Given the description of an element on the screen output the (x, y) to click on. 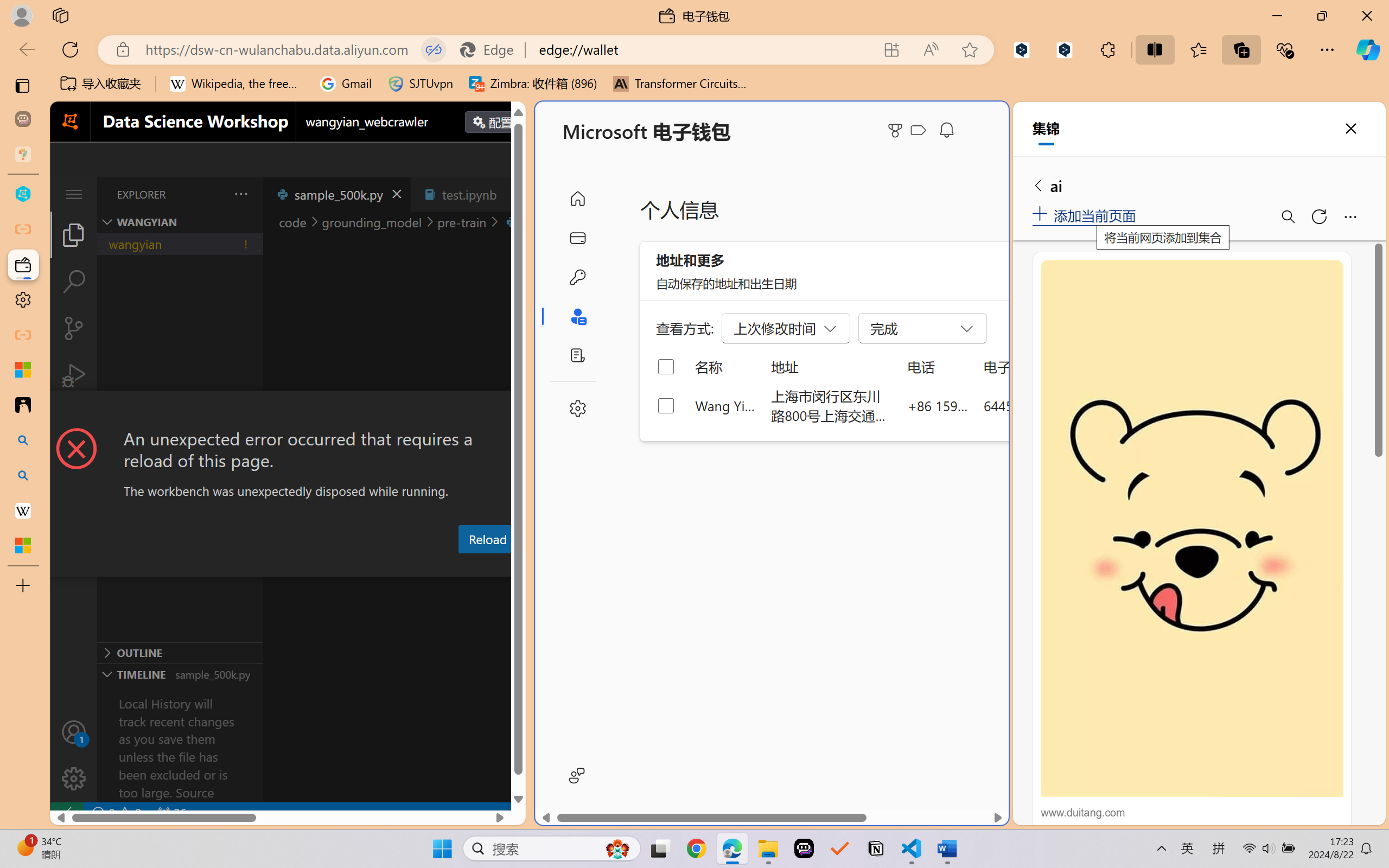
Transformer Circuits Thread (680, 83)
Debug Console (Ctrl+Shift+Y) (463, 565)
Earth - Wikipedia (22, 510)
Source Control (Ctrl+Shift+G) (73, 328)
